Given the description of an element on the screen output the (x, y) to click on. 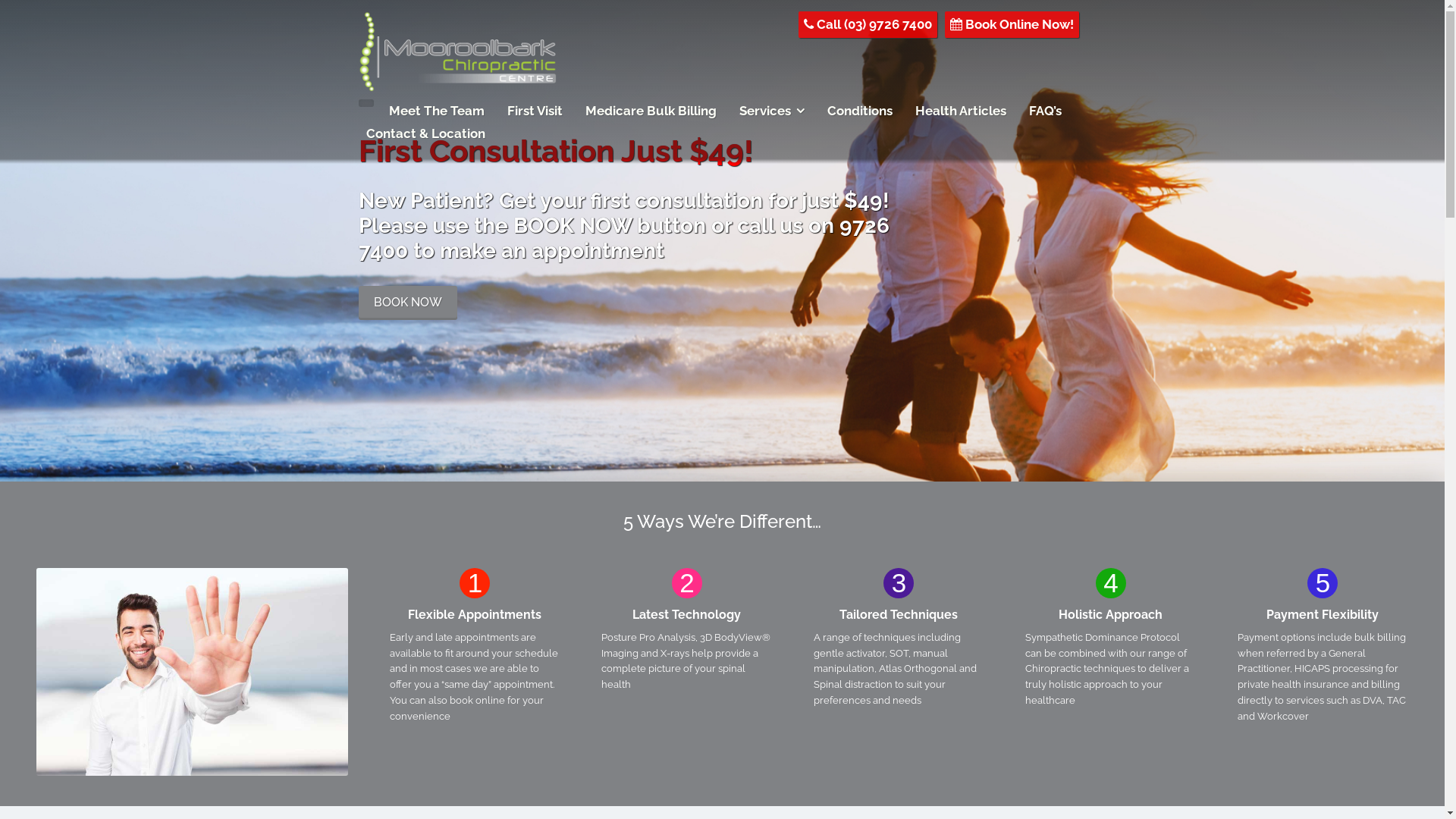
Mooroolbark Family Chiropractic Centre Element type: hover (456, 80)
Meet The Team Element type: text (435, 110)
worker-holding-cement-bag Element type: hover (722, 240)
Services Element type: text (771, 110)
Contact & Location Element type: text (424, 133)
First Visit Element type: text (533, 110)
Book Online Now! Element type: text (1011, 24)
Medicare Bulk Billing Element type: text (650, 110)
Call (03) 9726 7400 Element type: text (866, 24)
Conditions Element type: text (859, 110)
Health Articles Element type: text (959, 110)
